Given the description of an element on the screen output the (x, y) to click on. 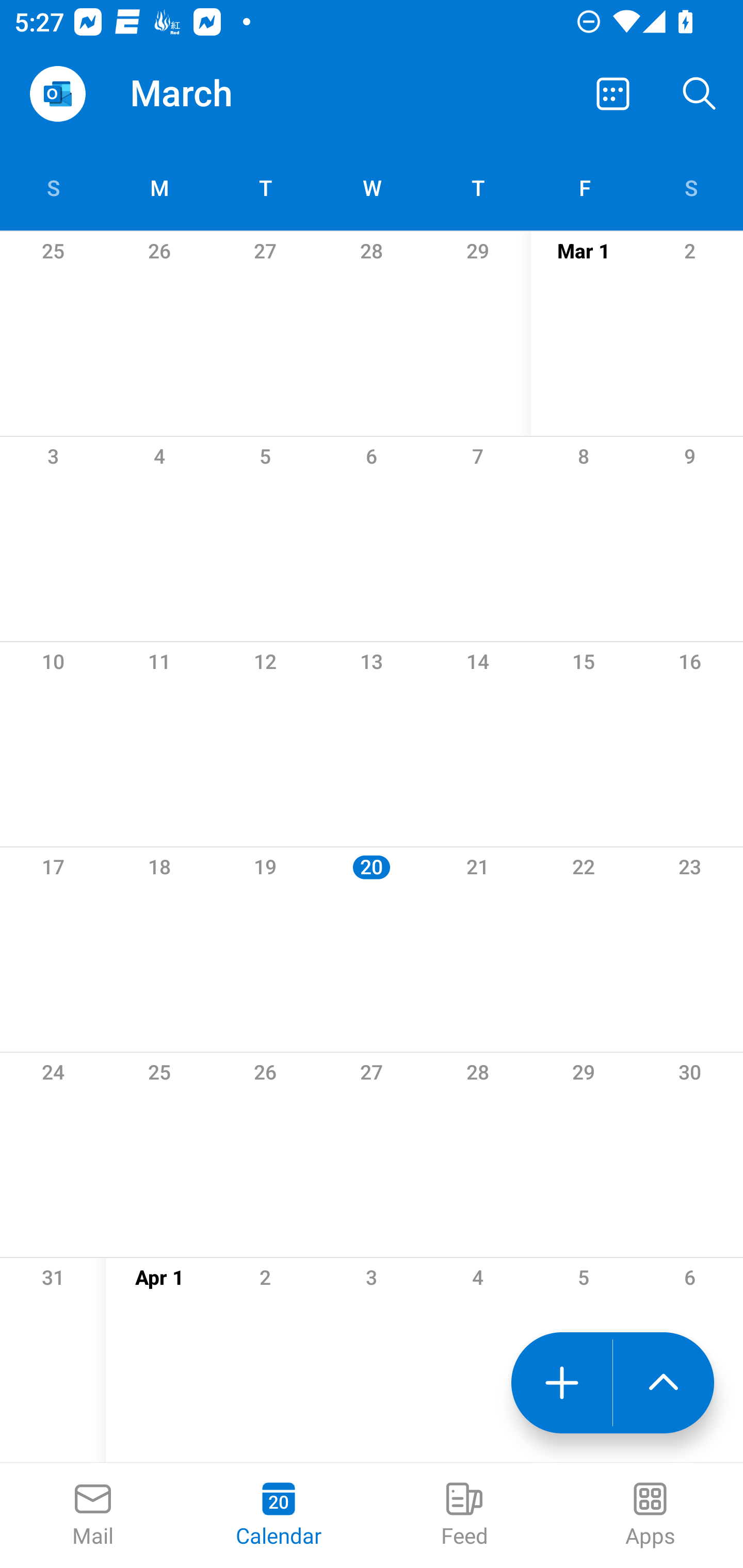
March March 2024, day picker (209, 93)
Switch away from Month view (612, 93)
Search, ,  (699, 93)
Open Navigation Drawer (57, 94)
New event (561, 1382)
launch the extended action menu (663, 1382)
Mail (92, 1515)
Feed (464, 1515)
Apps (650, 1515)
